Given the description of an element on the screen output the (x, y) to click on. 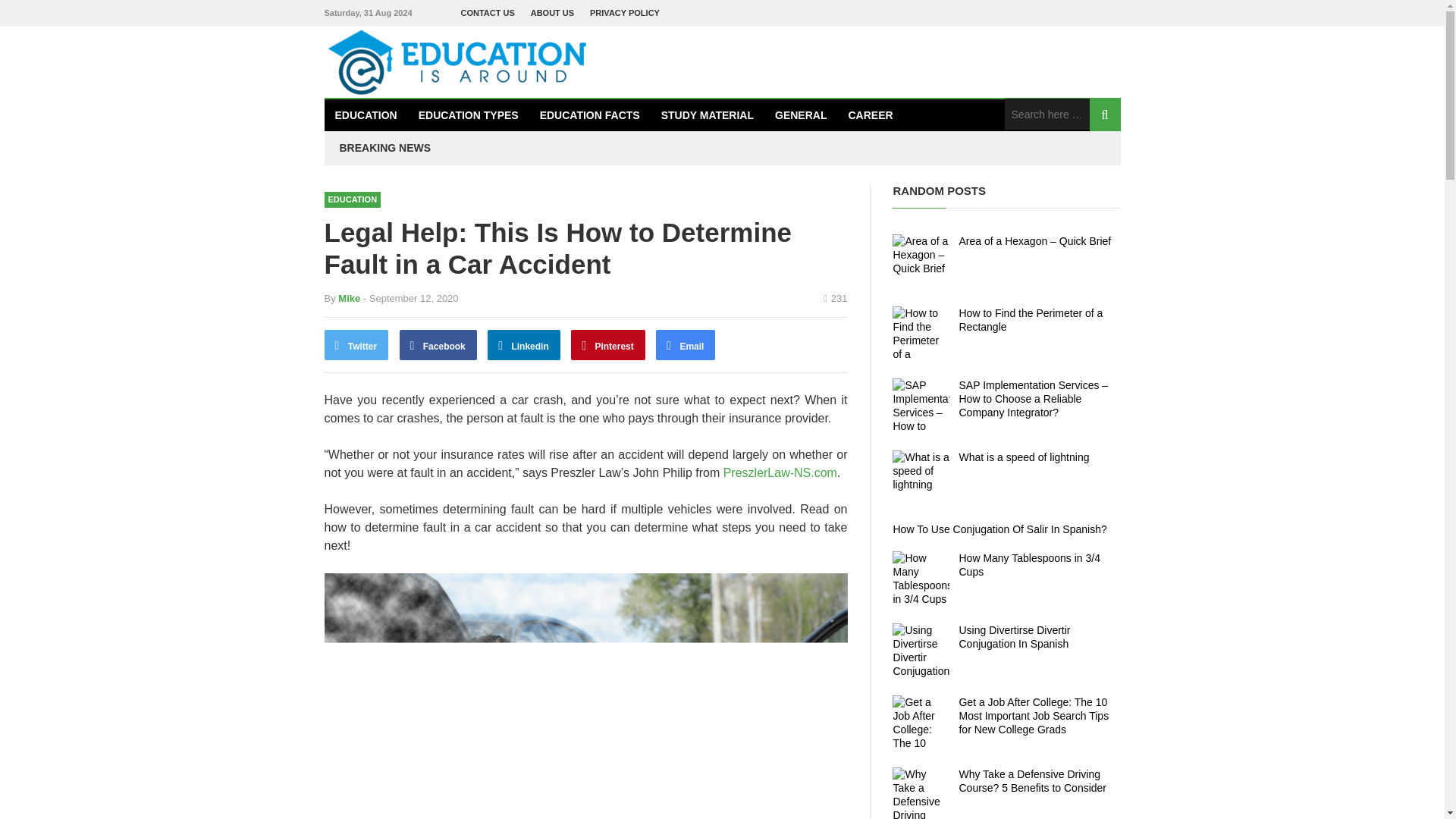
CONTACT US (488, 13)
Saturday, September 12, 2020, 2:44 pm (410, 297)
GENERAL (800, 115)
STUDY MATERIAL (707, 115)
Mike (348, 297)
Linkedin (523, 345)
EDUCATION TYPES (468, 115)
CAREER (869, 115)
Pinterest (607, 345)
EDUCATION (365, 115)
